Given the description of an element on the screen output the (x, y) to click on. 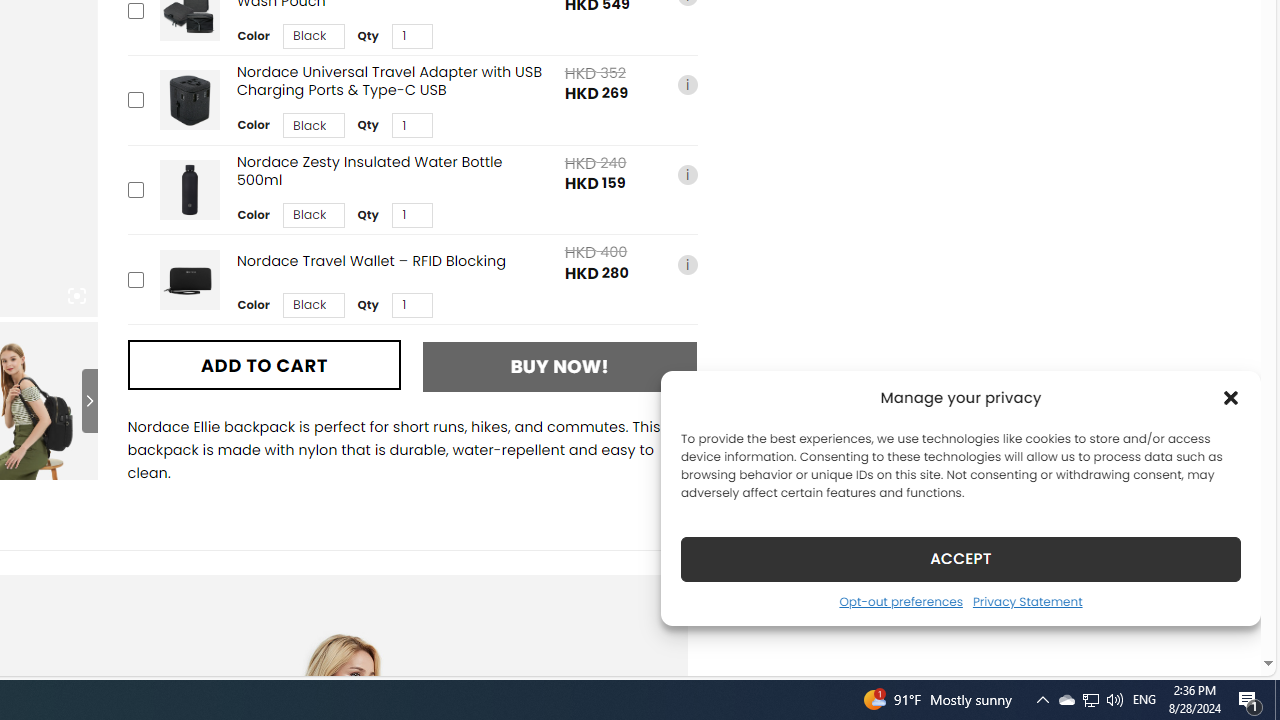
Q2790: 100% (1114, 699)
Privacy Statement (1026, 601)
ADD TO CART (263, 364)
Nordace Zesty Insulated Water Bottle 500ml (189, 189)
i (687, 264)
BUY NOW! (559, 366)
Tray Input Indicator - English (United States) (1144, 699)
Add this product to cart (134, 279)
User Promoted Notification Area (1090, 699)
ACCEPT (960, 558)
Class: upsell-v2-product-upsell-variable-product-qty-select (411, 305)
Show desktop (1277, 699)
